Given the description of an element on the screen output the (x, y) to click on. 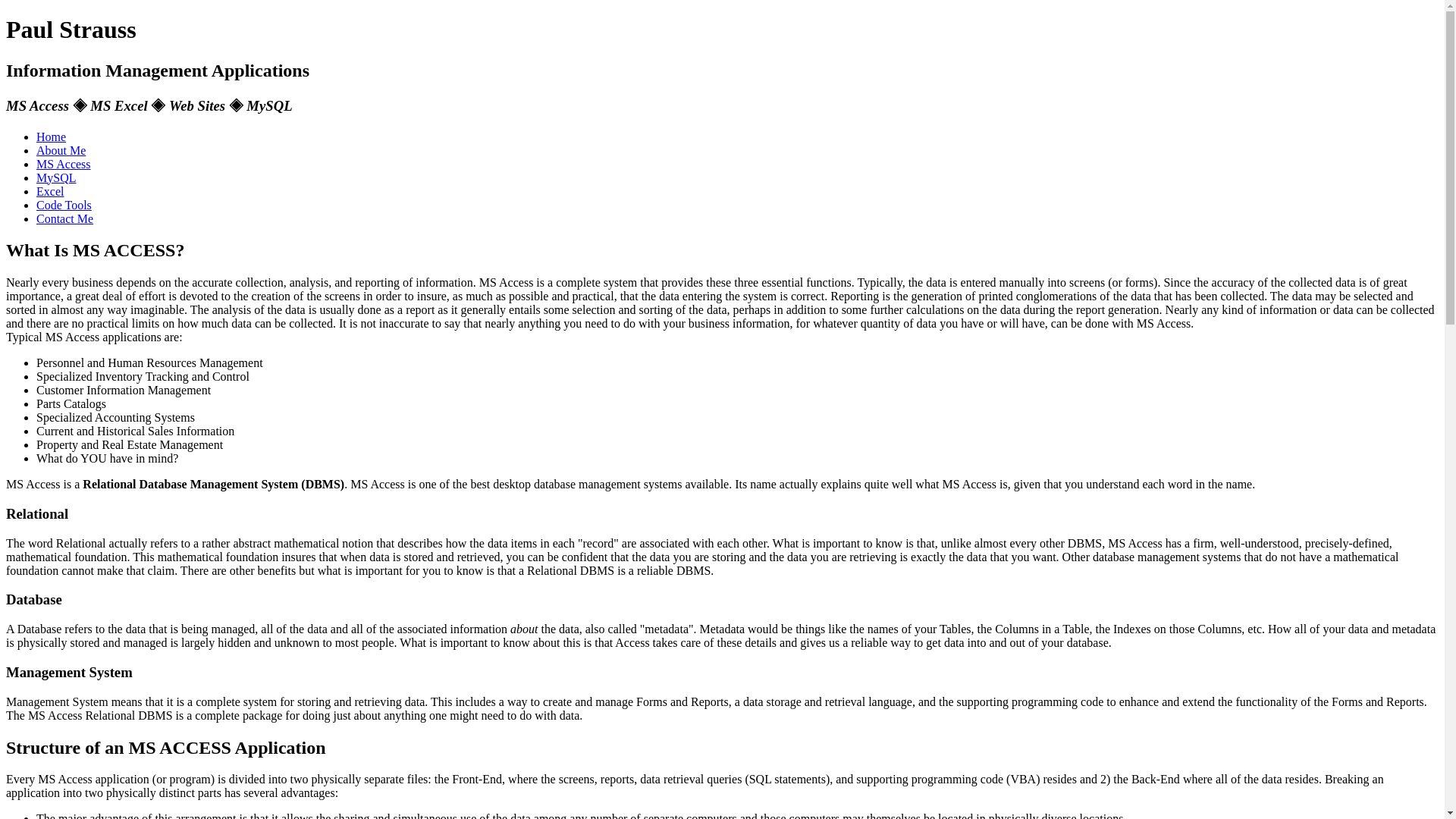
MS Access (63, 164)
Contact Me (64, 218)
About Me (60, 150)
Home (50, 136)
MySQL (55, 177)
Code Tools (63, 205)
Excel (50, 191)
